Given the description of an element on the screen output the (x, y) to click on. 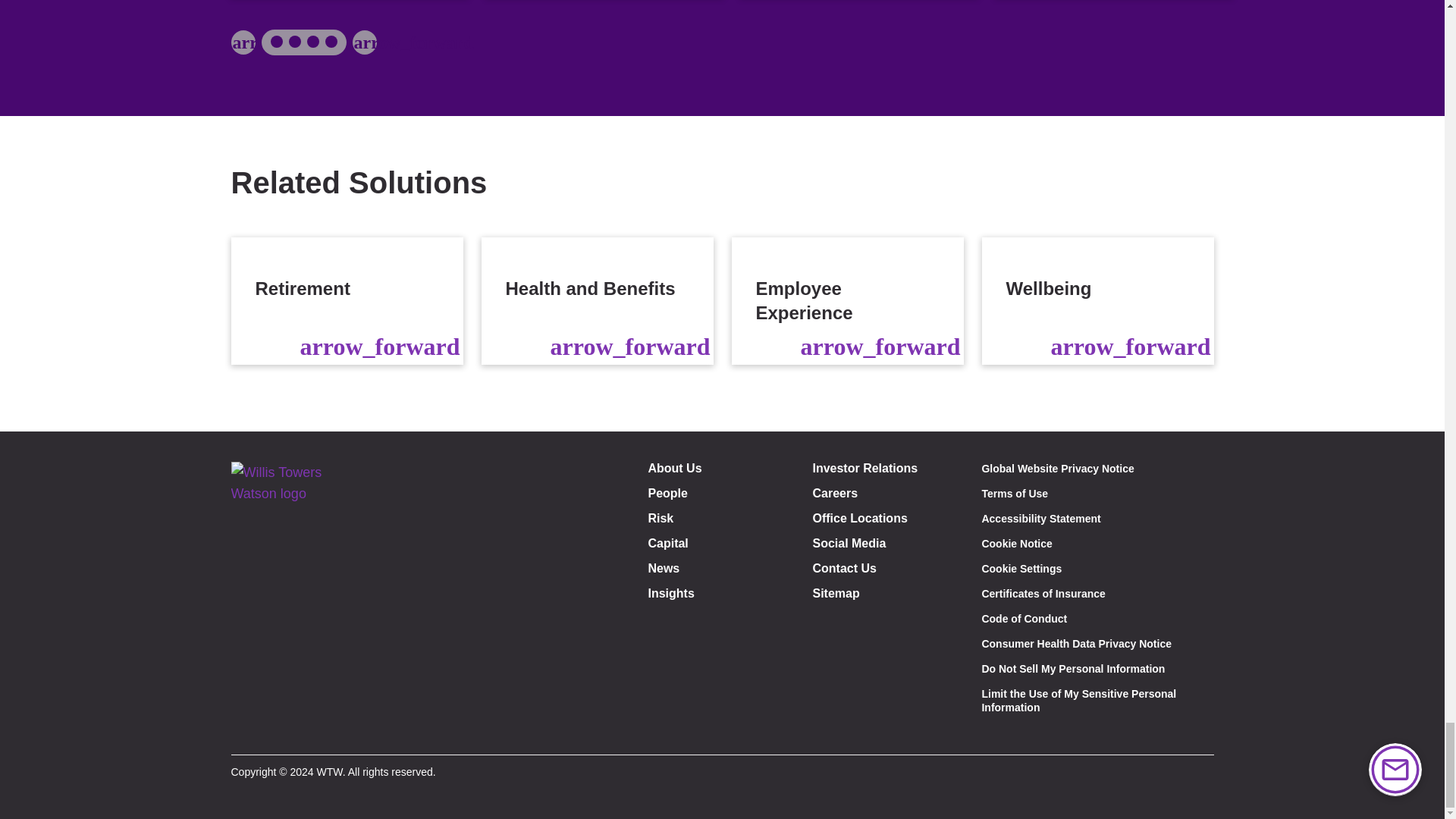
Retirement (346, 300)
Health and Benefits (596, 300)
Instagram (320, 732)
Linkedin (287, 732)
Wellbeing (1096, 300)
Facebook (252, 732)
Employee Experience (846, 300)
